Given the description of an element on the screen output the (x, y) to click on. 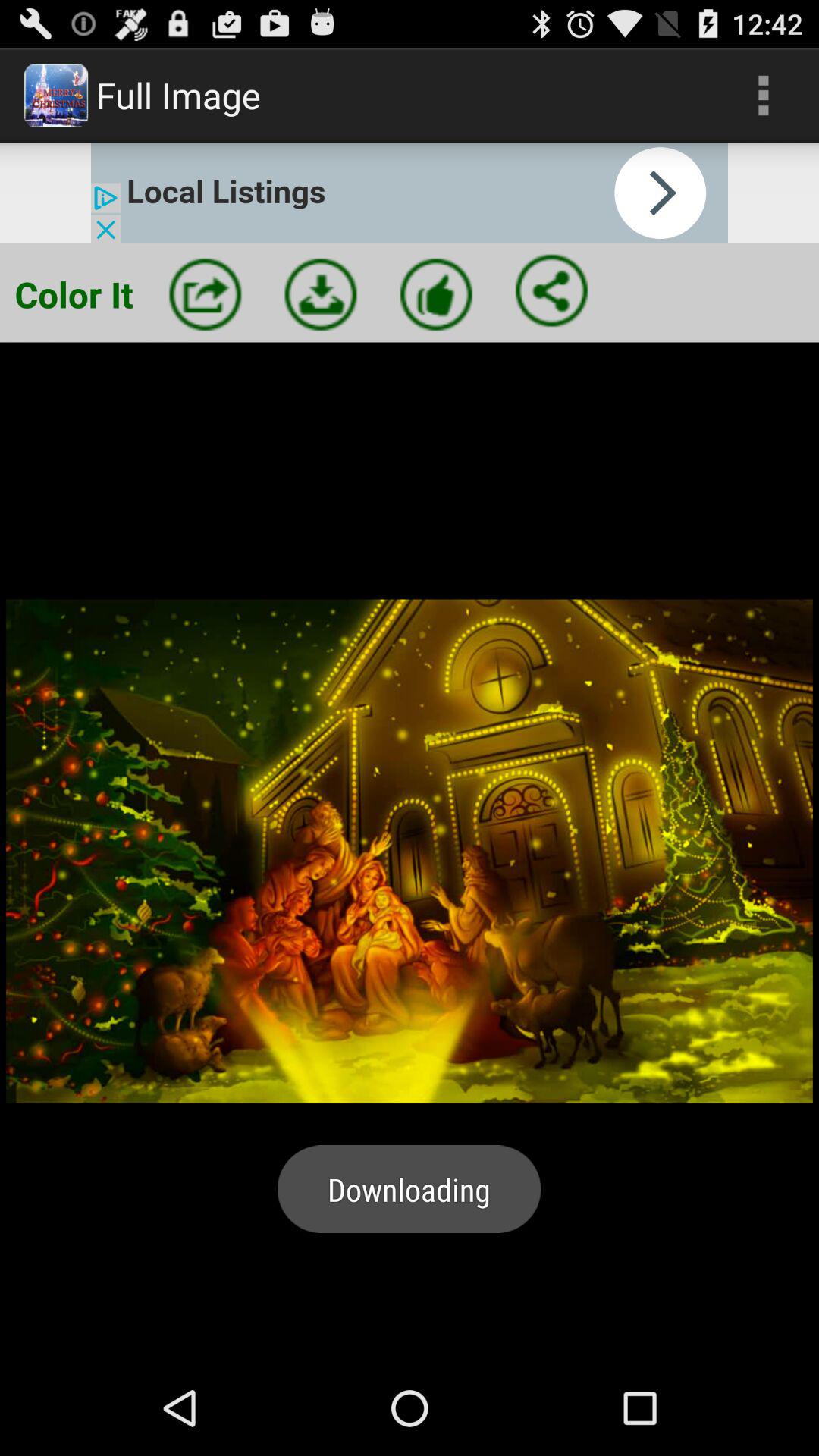
share with contacts (551, 290)
